Given the description of an element on the screen output the (x, y) to click on. 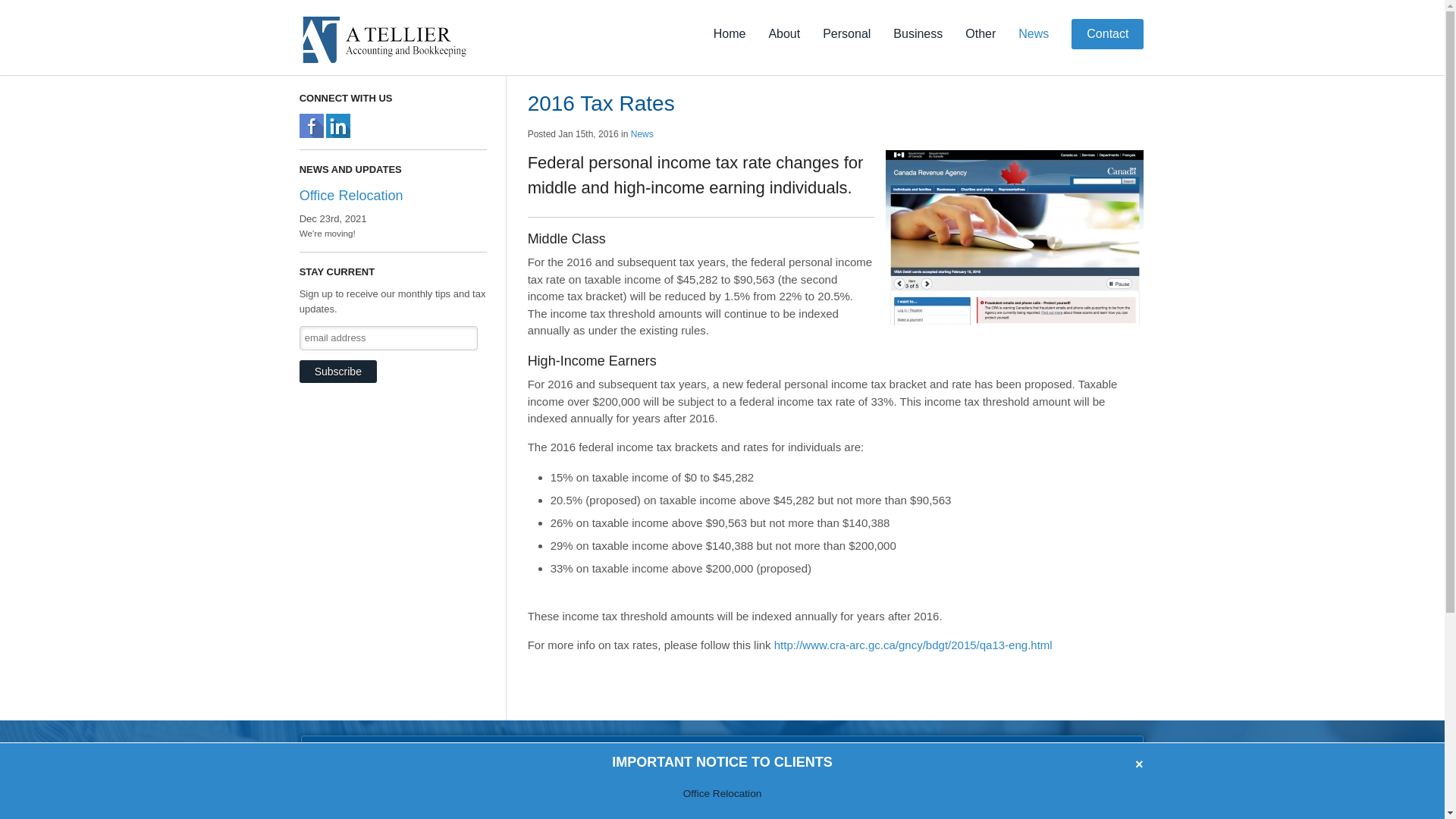
Other Element type: text (980, 34)
http://www.cra-arc.gc.ca/gncy/bdgt/2015/qa13-eng.html Element type: text (913, 644)
Office Relocation Element type: text (351, 195)
TALK TO US TODAY! Element type: text (1032, 775)
News Element type: text (641, 133)
About Element type: text (784, 34)
Office Relocation Element type: text (722, 791)
Contact Element type: text (1107, 33)
Business Element type: text (917, 34)
Personal Element type: text (846, 34)
Subscribe Element type: text (337, 371)
A Tellier Bookkeeping and Accounting, Welland, Facebook Element type: hover (311, 124)
Home Element type: text (729, 34)
A Tellier Bookkeeping and Accounting, Welland, LinkedIn Element type: hover (338, 124)
News Element type: text (1033, 34)
